Given the description of an element on the screen output the (x, y) to click on. 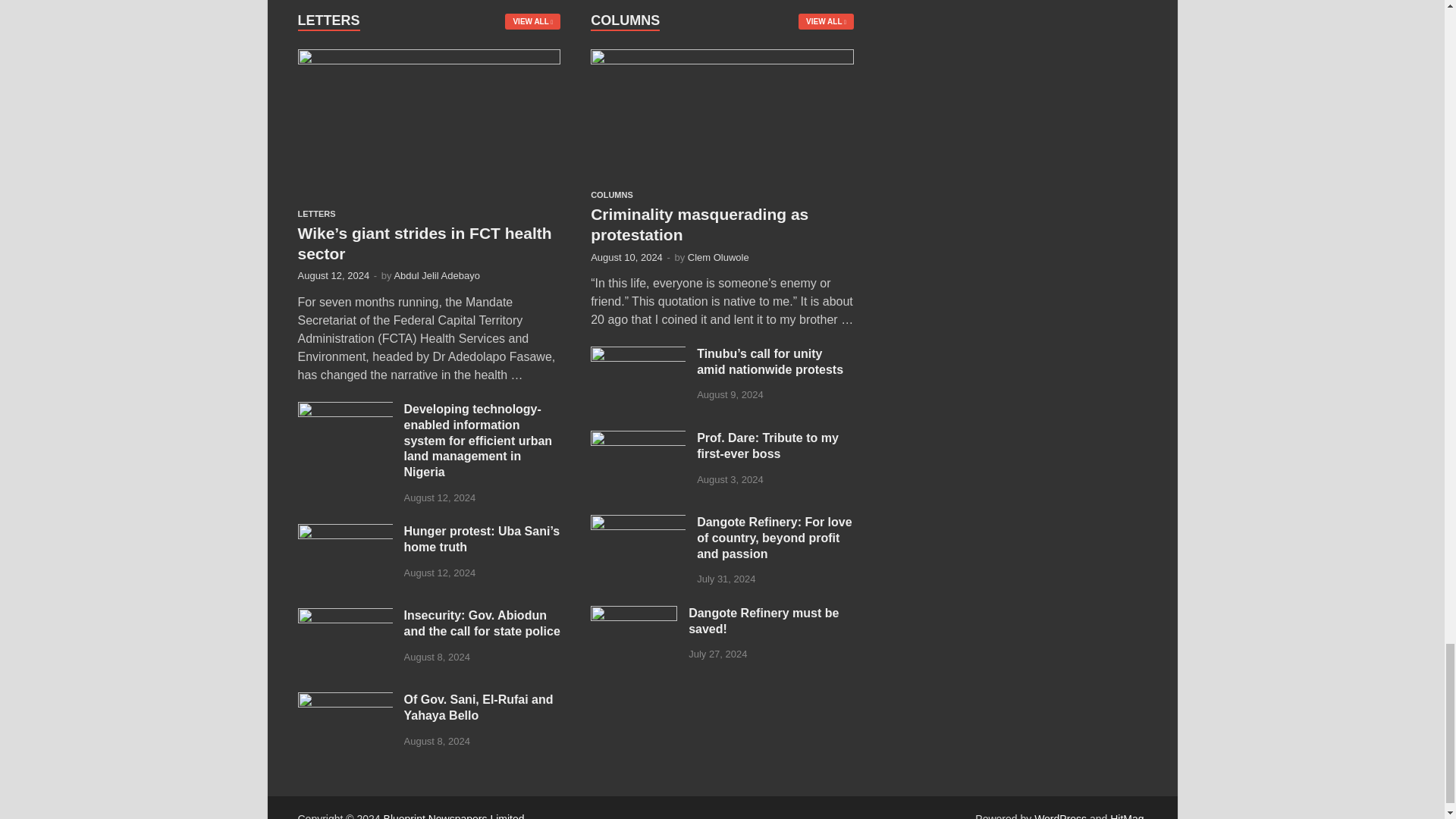
Of Gov. Sani, El-Rufai and Yahaya Bello (344, 700)
Insecurity: Gov. Abiodun and the call for state police (344, 616)
Criminality masquerading as protestation (722, 57)
